Given the description of an element on the screen output the (x, y) to click on. 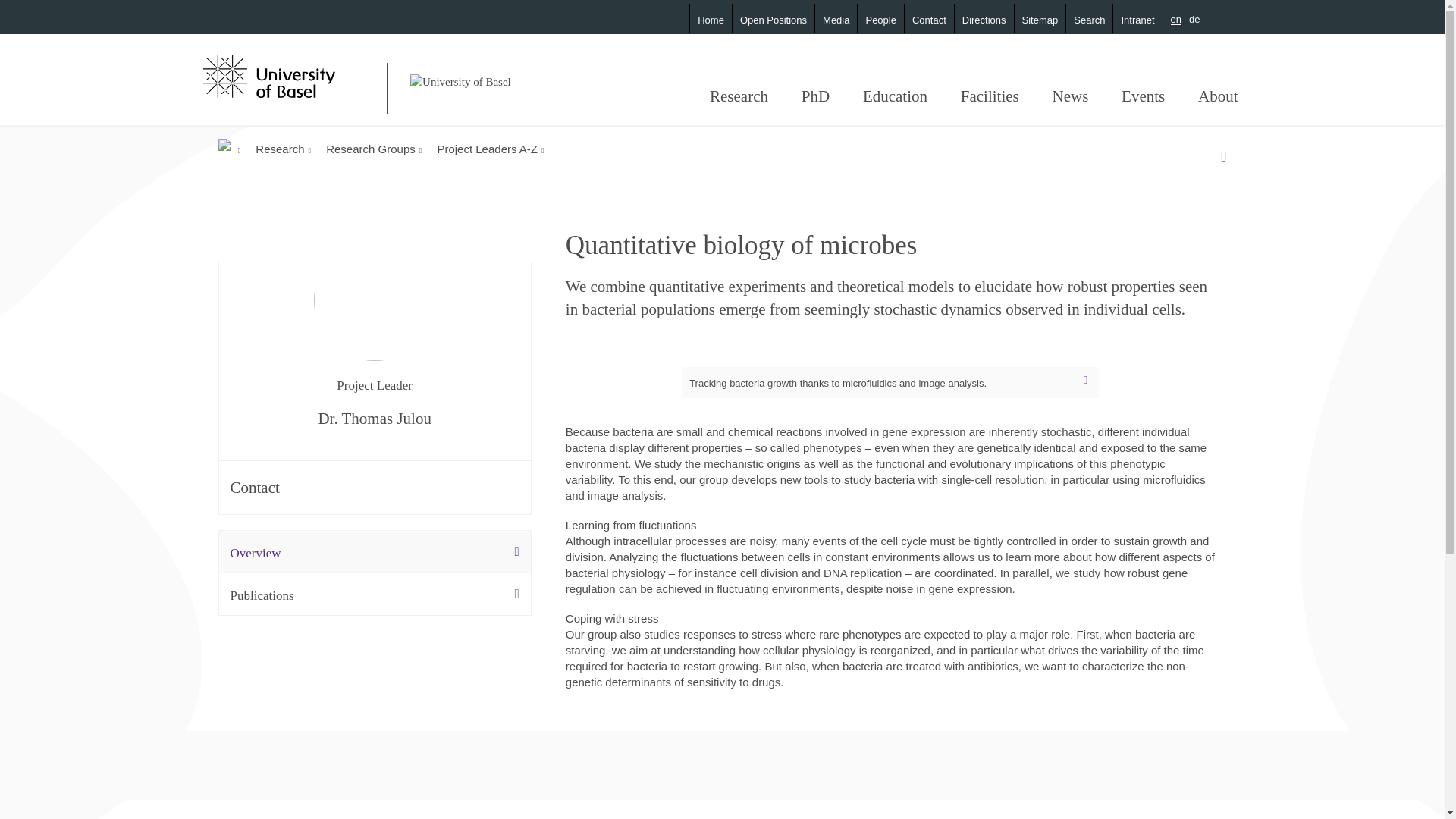
Research (738, 95)
Biozentrum Homepage (460, 82)
Unibas (293, 73)
Biozentrum Homepage (460, 75)
